Given the description of an element on the screen output the (x, y) to click on. 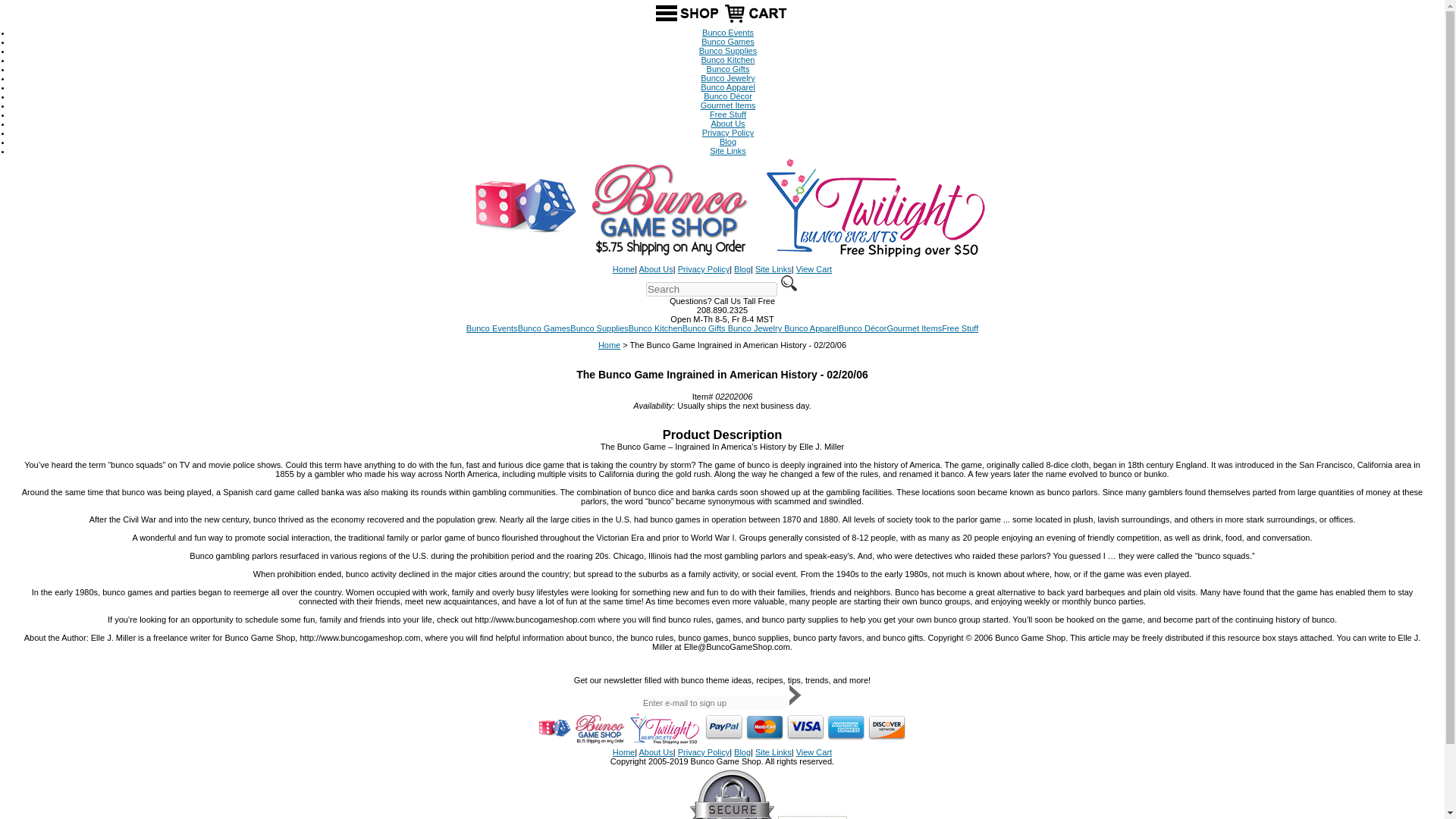
Site Links (773, 751)
Blog (742, 268)
Gourmet Items (914, 327)
Bunco Kitchen (728, 59)
Bunco Apparel (727, 86)
View Cart (813, 268)
Bunco Jewelry (727, 77)
Bunco Jewelry (754, 327)
Bunco Events (727, 31)
Bunco Gifts (727, 68)
Bunco Games (544, 327)
Gourmet Items (914, 327)
 Bunco Jewelry  (727, 77)
Privacy Policy (703, 751)
Home (623, 268)
